Given the description of an element on the screen output the (x, y) to click on. 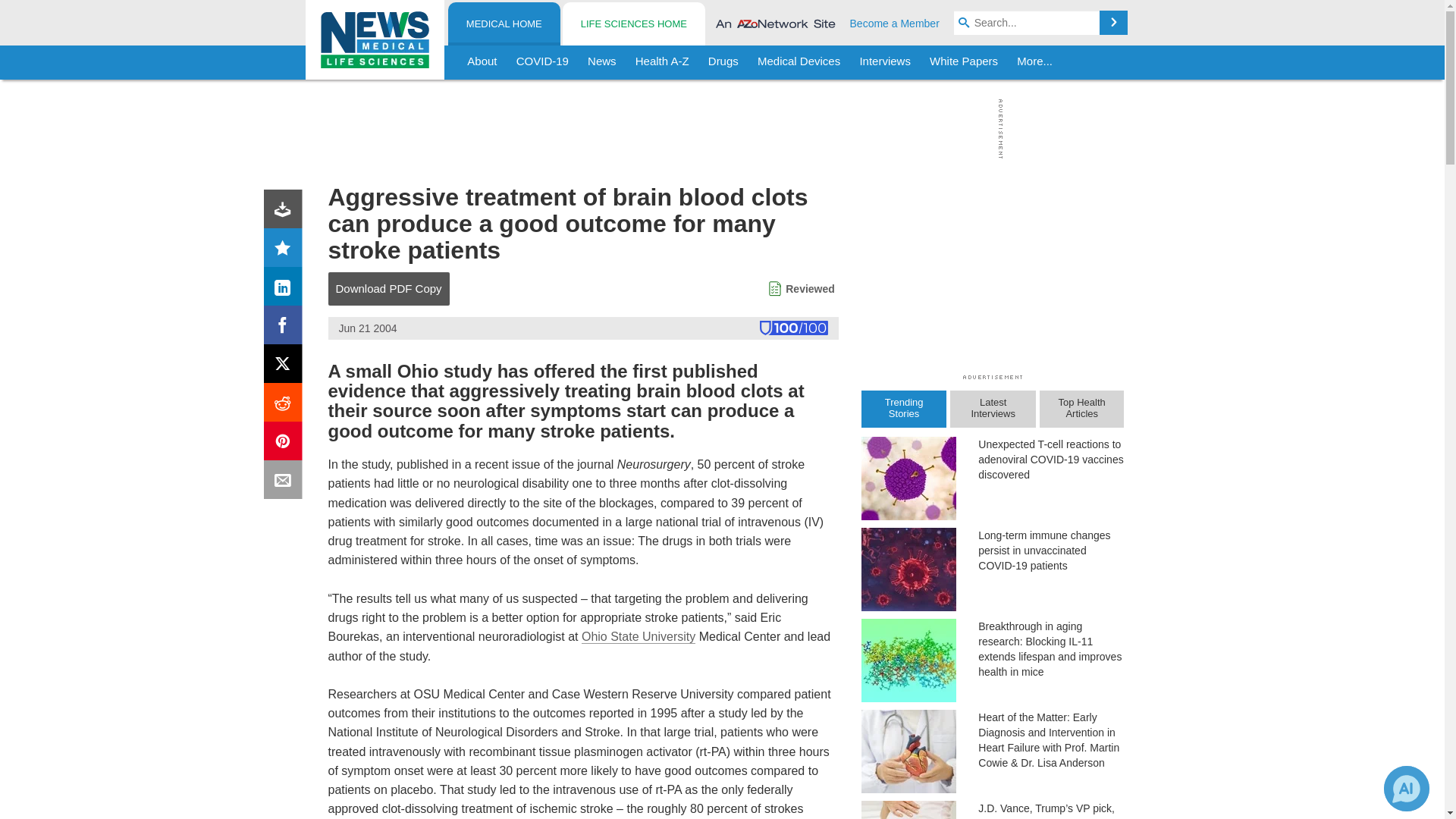
Medical Devices (798, 62)
More... (1035, 62)
LIFE SCIENCES HOME (633, 23)
About (482, 62)
Rating (285, 250)
Pinterest (285, 443)
Search (1112, 22)
LinkedIn (285, 289)
Reddit (285, 405)
X (285, 366)
Become a Member (894, 22)
White Papers (963, 62)
Email (285, 483)
Facebook (285, 328)
